Given the description of an element on the screen output the (x, y) to click on. 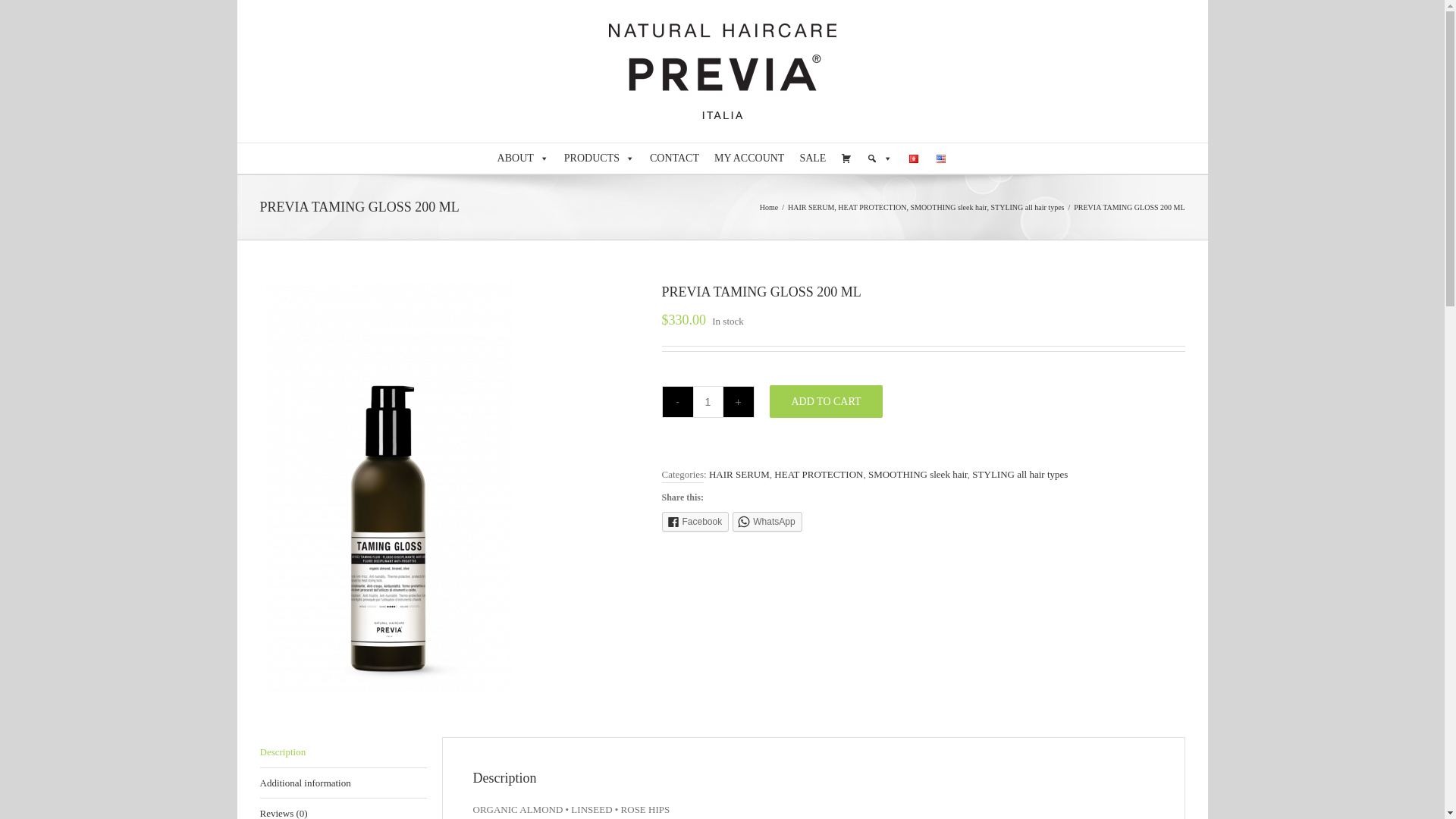
Click to share on WhatsApp (767, 521)
1 (708, 401)
- (677, 401)
PRODUCTS (599, 158)
TAMING GLOSS 200 ML (387, 486)
Qty (708, 401)
ABOUT (522, 158)
Click to share on Facebook (695, 521)
